Given the description of an element on the screen output the (x, y) to click on. 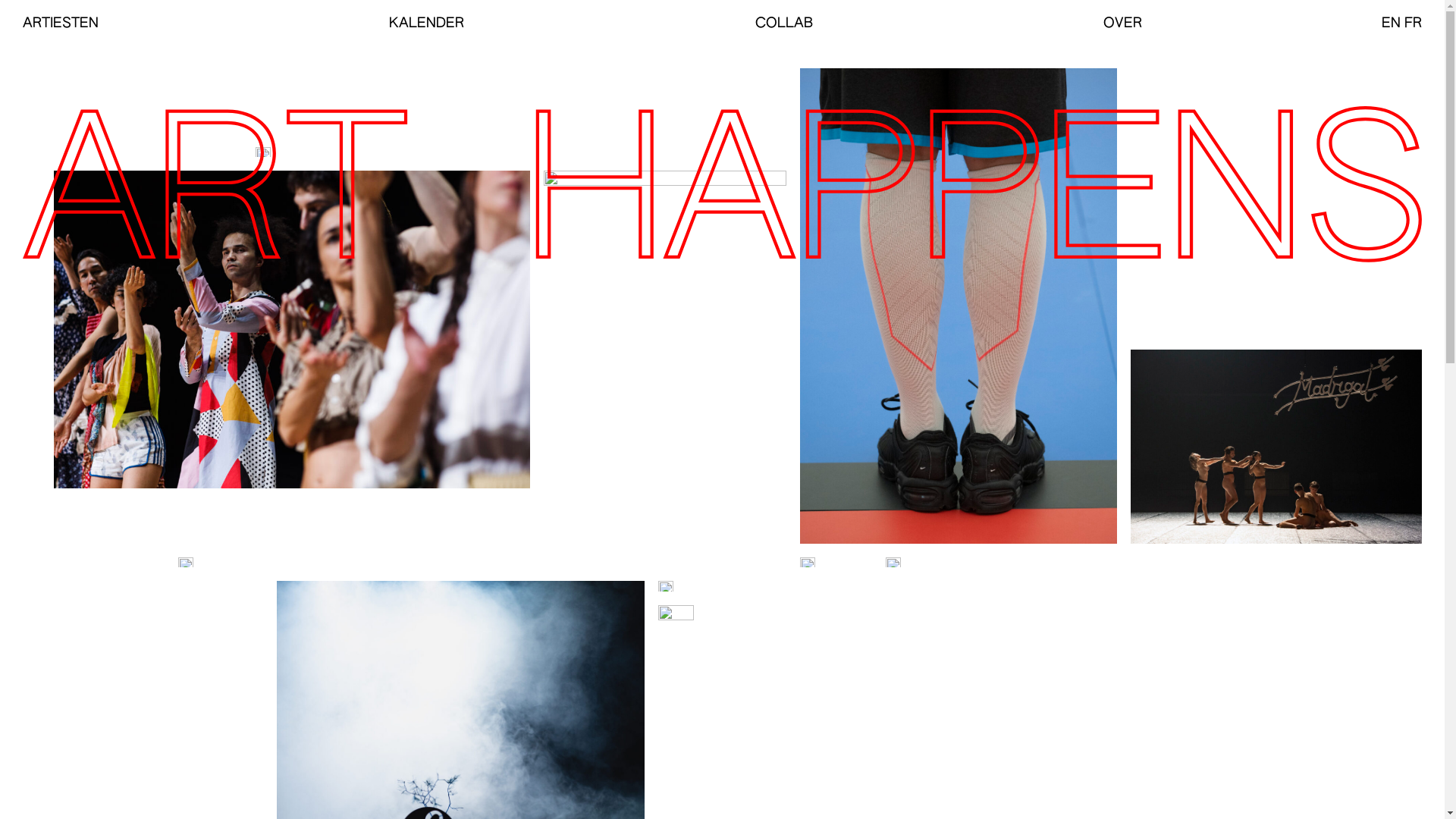
OVER Element type: text (1122, 23)
KALENDER Element type: text (426, 23)
COLLAB Element type: text (783, 23)
FR Element type: text (1412, 23)
EN Element type: text (1390, 23)
ARTIESTEN Element type: text (60, 23)
